Given the description of an element on the screen output the (x, y) to click on. 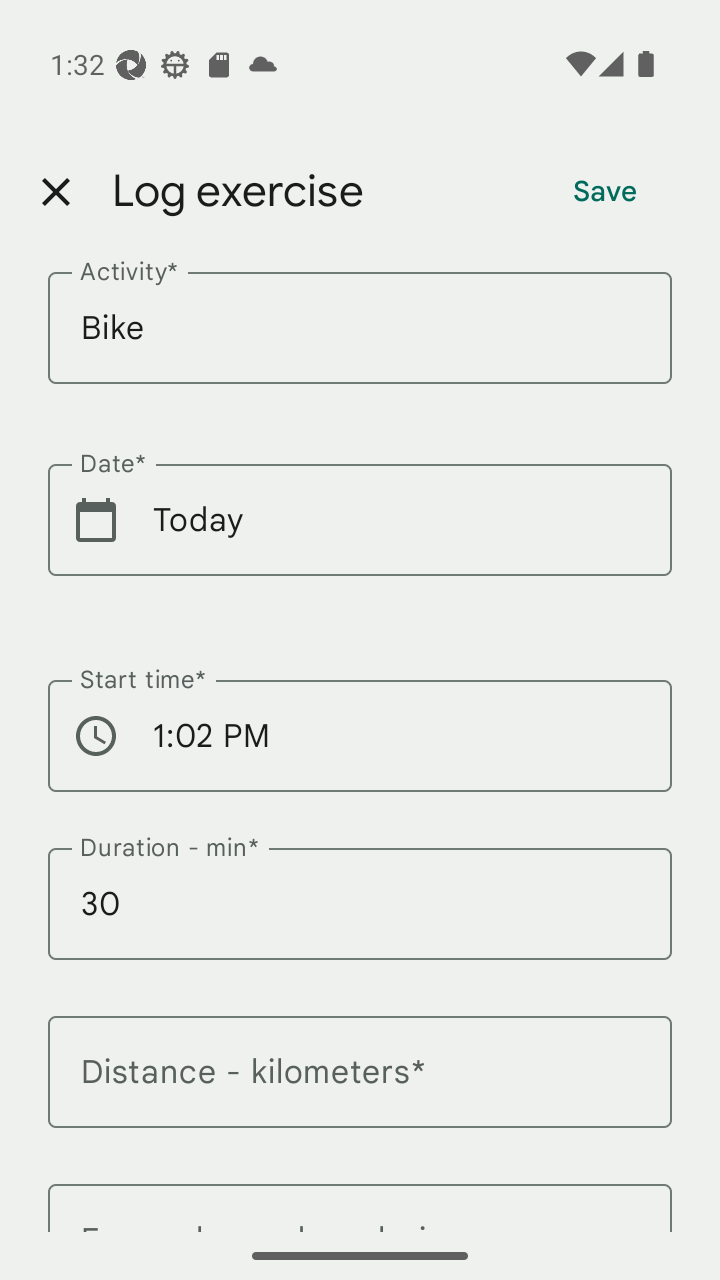
Close (55, 191)
Save (605, 191)
Bike Activity* (359, 339)
Today Date* (359, 531)
1:02 PM Start time* (359, 748)
30 Duration - min* (359, 915)
Distance - kilometers* (359, 1083)
